Given the description of an element on the screen output the (x, y) to click on. 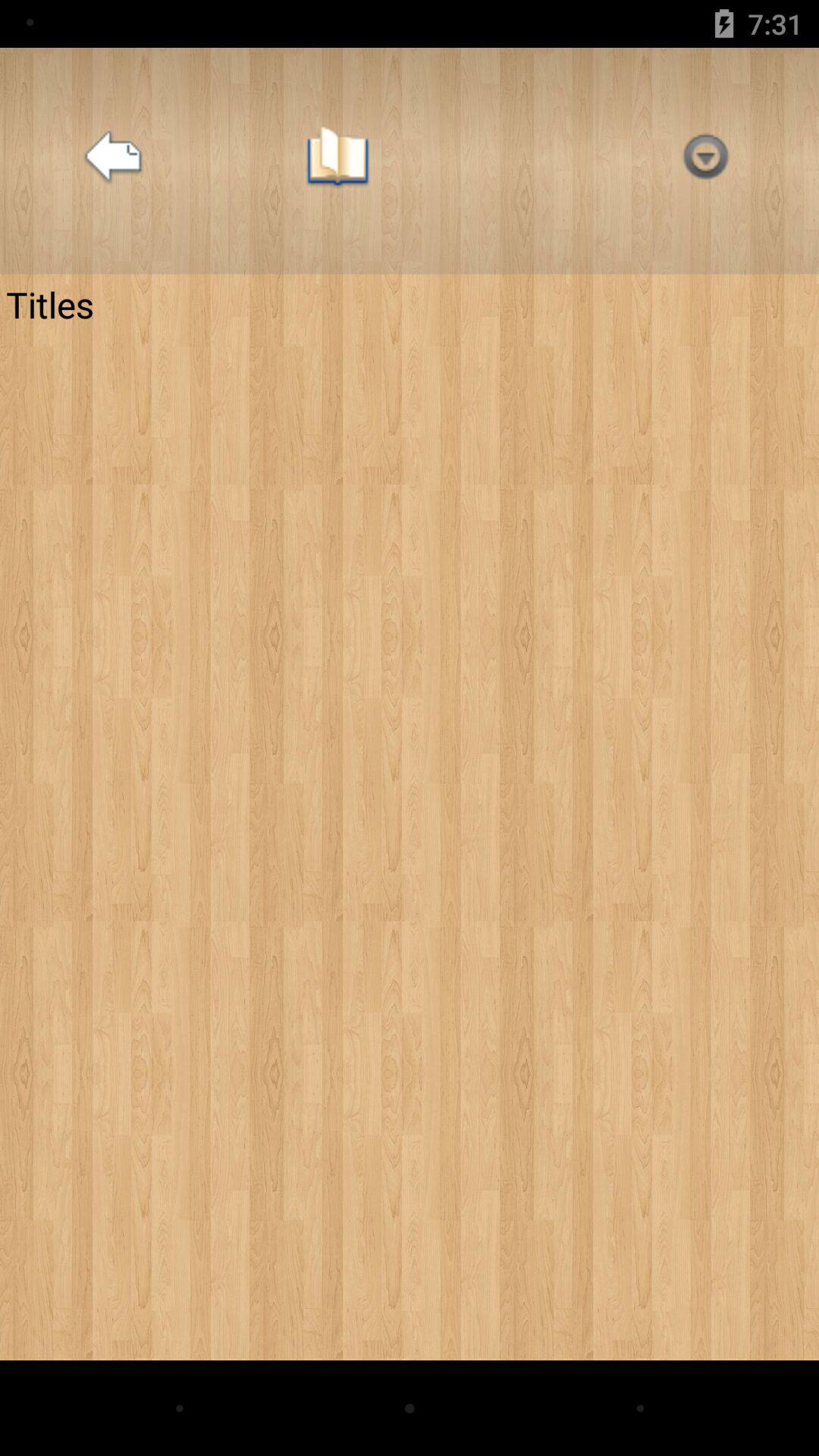
tap item above titles (337, 160)
